Given the description of an element on the screen output the (x, y) to click on. 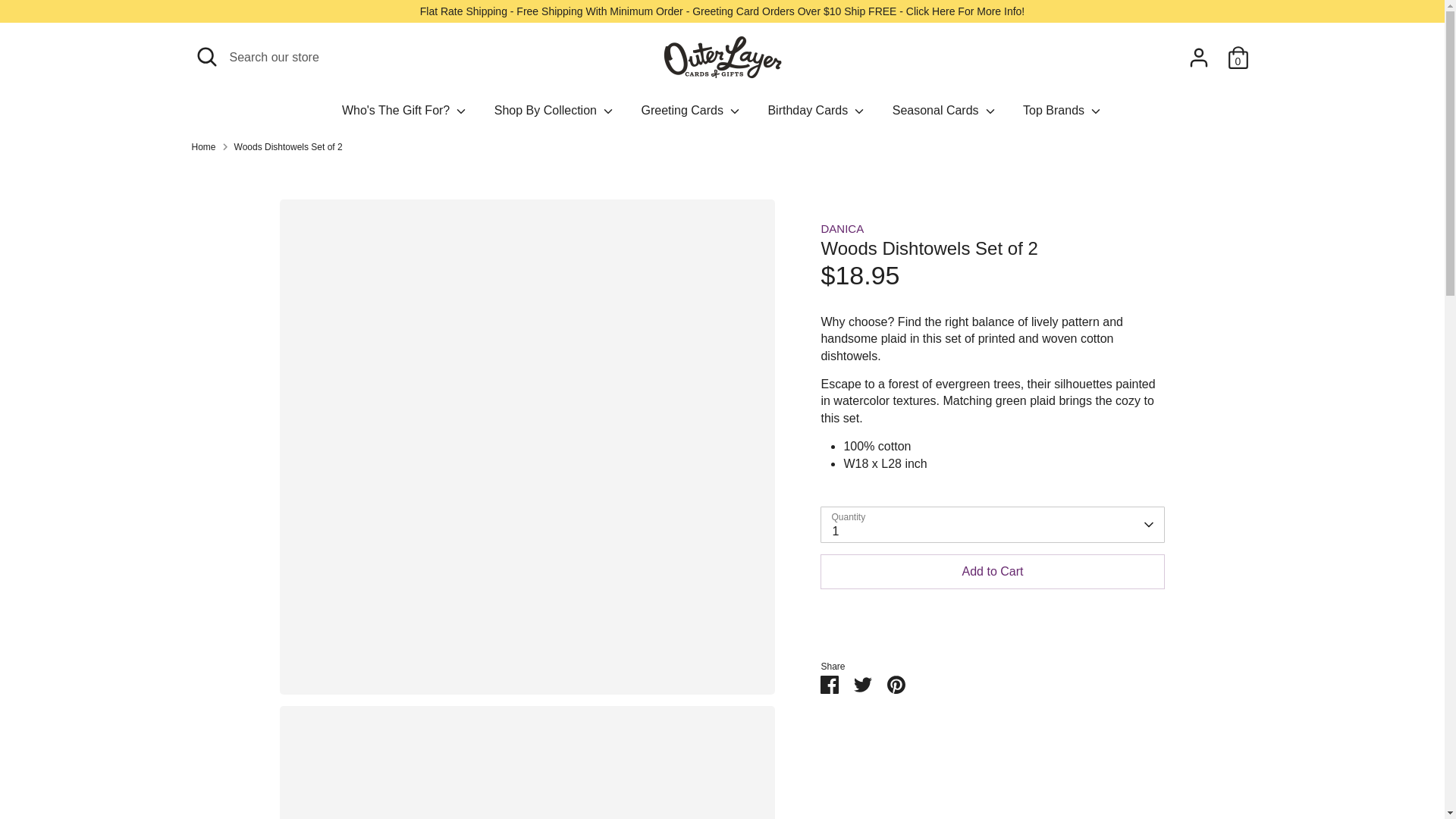
0 (1237, 57)
